Given the description of an element on the screen output the (x, y) to click on. 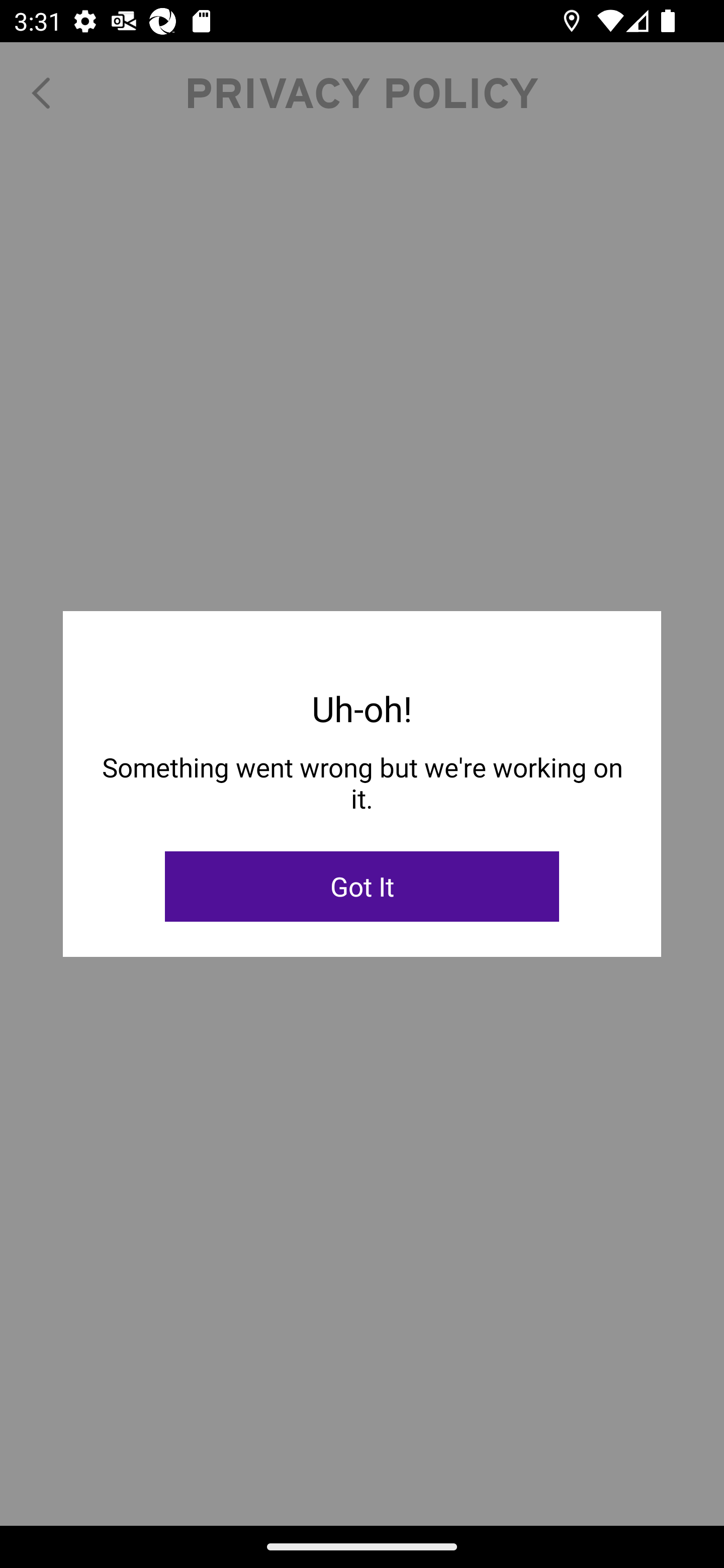
Got It (361, 886)
